Given the description of an element on the screen output the (x, y) to click on. 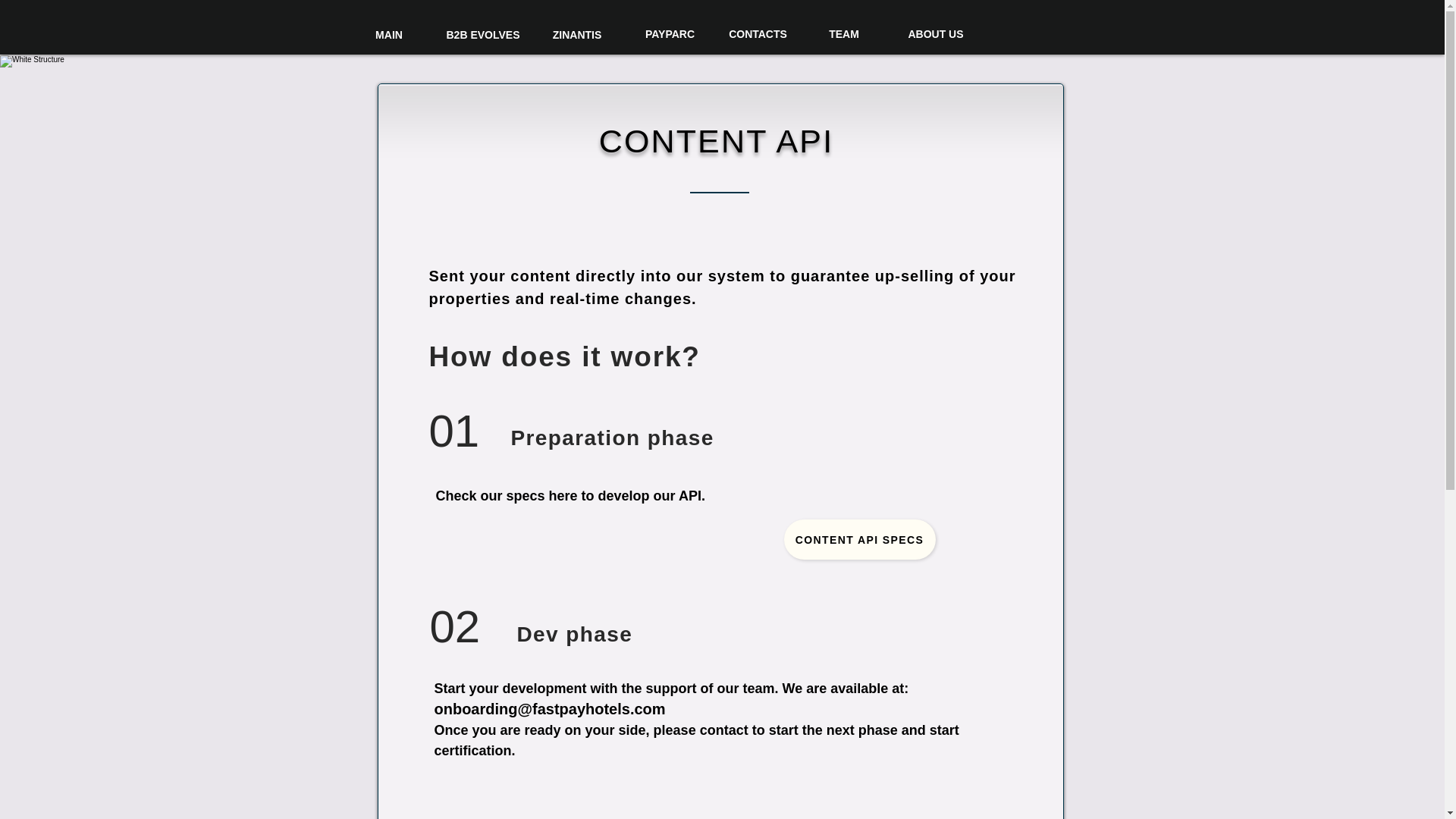
TEAM (844, 34)
PAYPARC (670, 34)
ABOUT US (935, 34)
MAIN (389, 34)
CONTACTS (758, 34)
ZINANTIS (577, 35)
B2B EVOLVES (482, 35)
CONTENT API SPECS (860, 539)
